Given the description of an element on the screen output the (x, y) to click on. 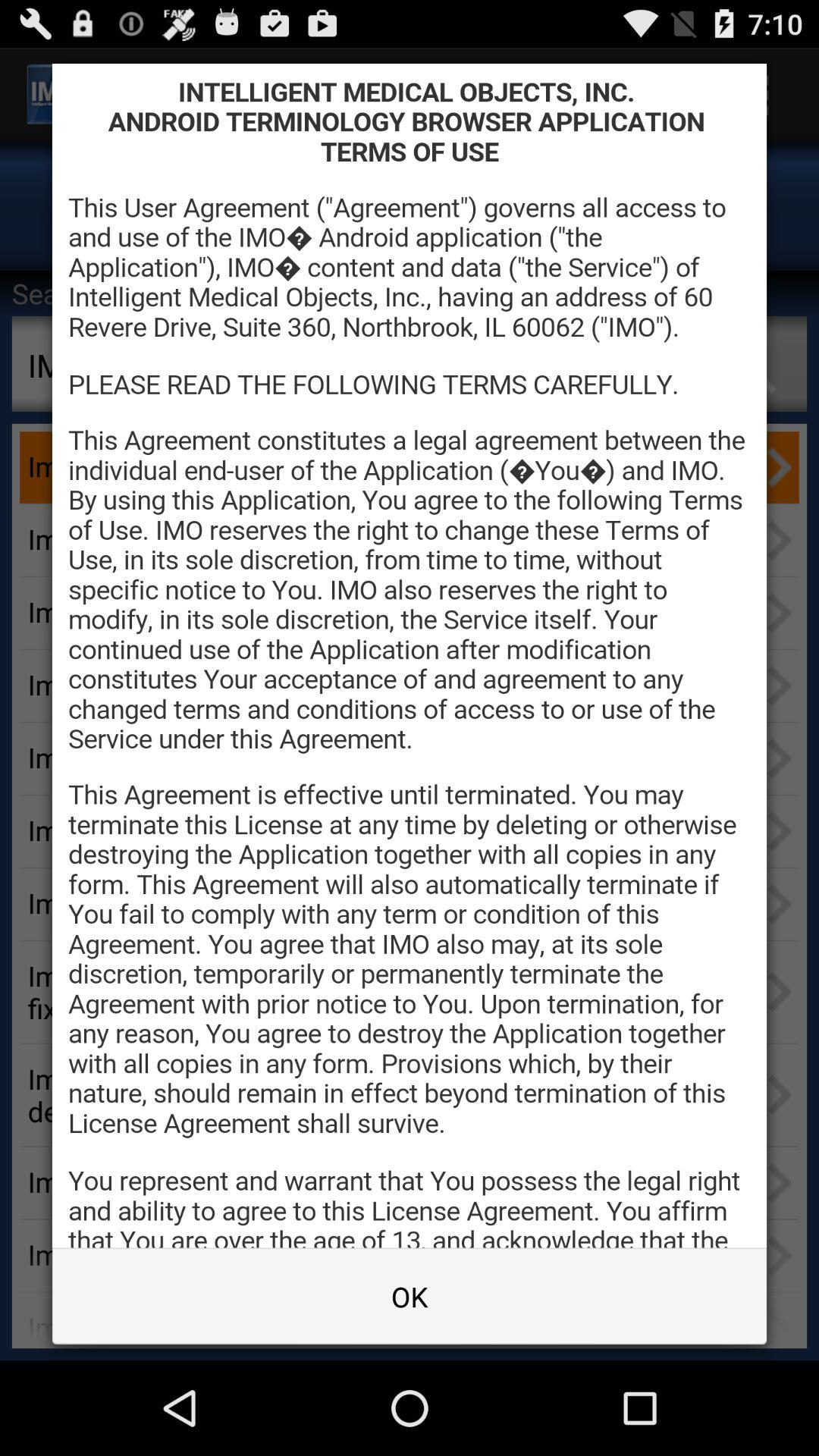
terms of agreement (409, 655)
